Given the description of an element on the screen output the (x, y) to click on. 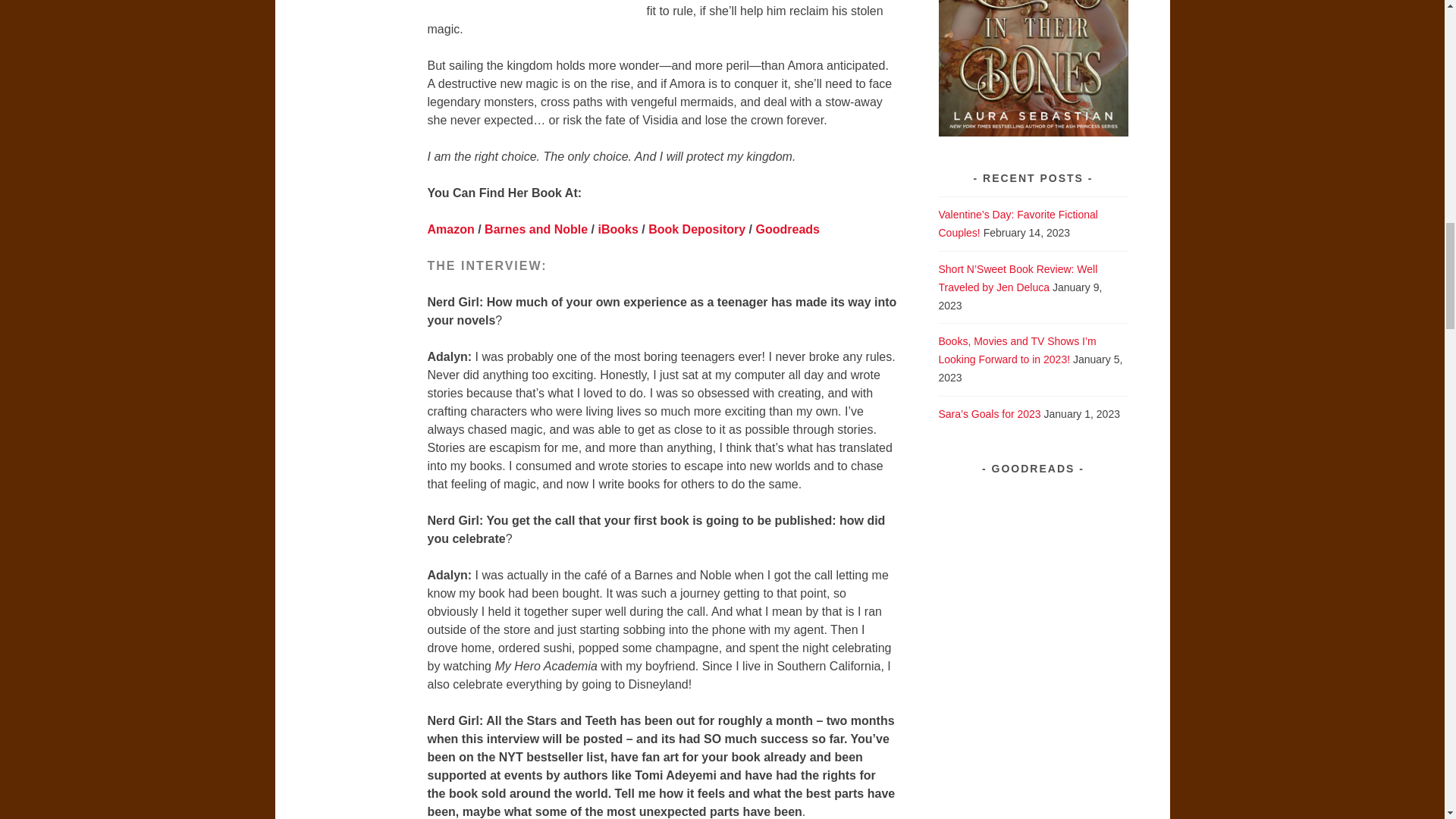
Book Depository (696, 228)
Amazon (451, 228)
iBooks (616, 228)
Goodreads (786, 228)
Barnes and Noble (536, 228)
